Given the description of an element on the screen output the (x, y) to click on. 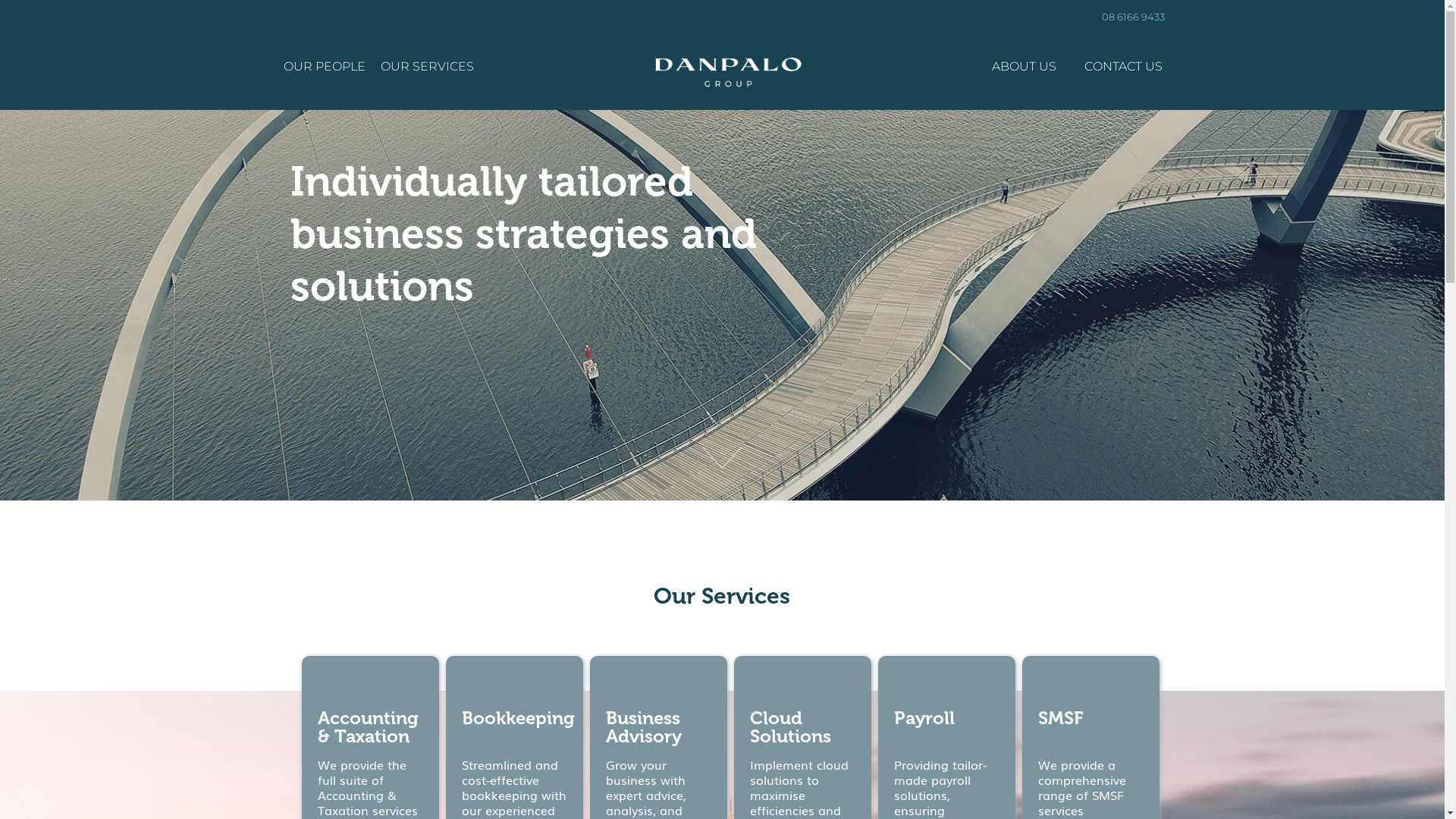
08 6166 9433 Element type: text (1132, 16)
OUR SERVICES Element type: text (426, 66)
CONTACT US Element type: text (1123, 66)
OUR PEOPLE Element type: text (324, 66)
ABOUT US Element type: text (1023, 66)
